Given the description of an element on the screen output the (x, y) to click on. 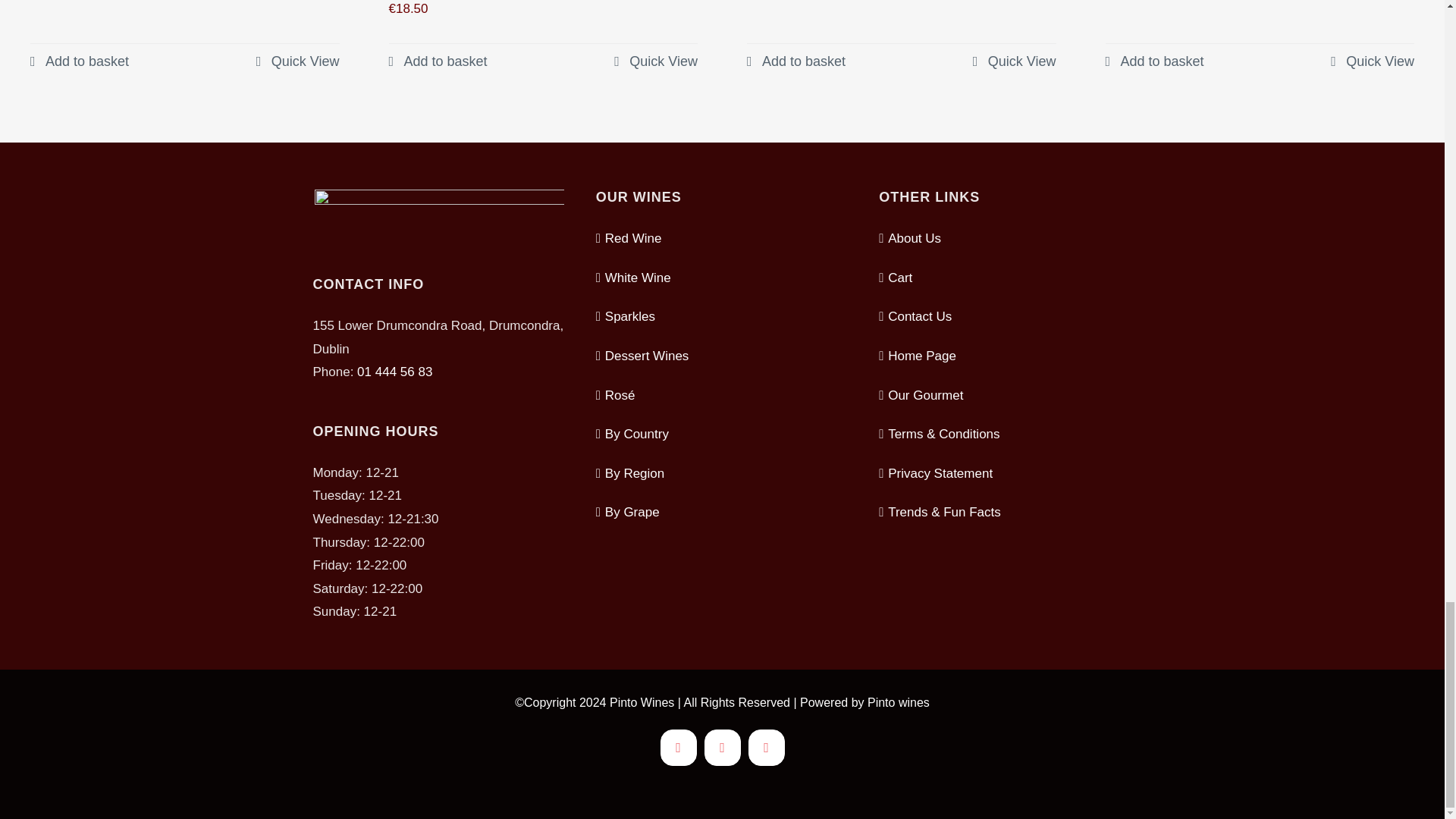
X (721, 747)
Instagram (677, 747)
Facebook (766, 747)
